Given the description of an element on the screen output the (x, y) to click on. 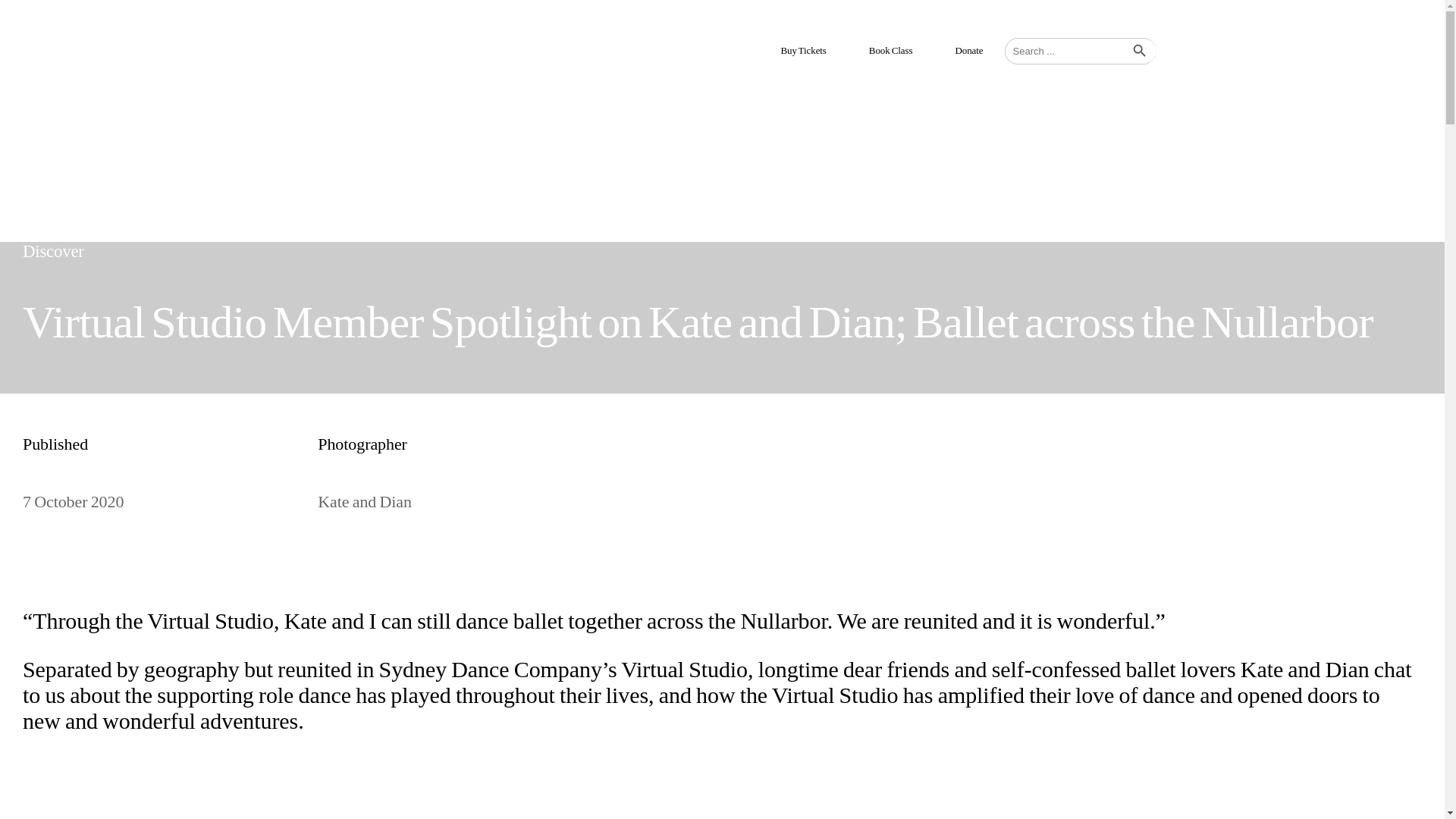
Classes (725, 96)
Book Class (891, 49)
Donate (967, 49)
Buy Tickets (803, 49)
Training (811, 96)
Give (889, 96)
Search Button (1142, 53)
